Given the description of an element on the screen output the (x, y) to click on. 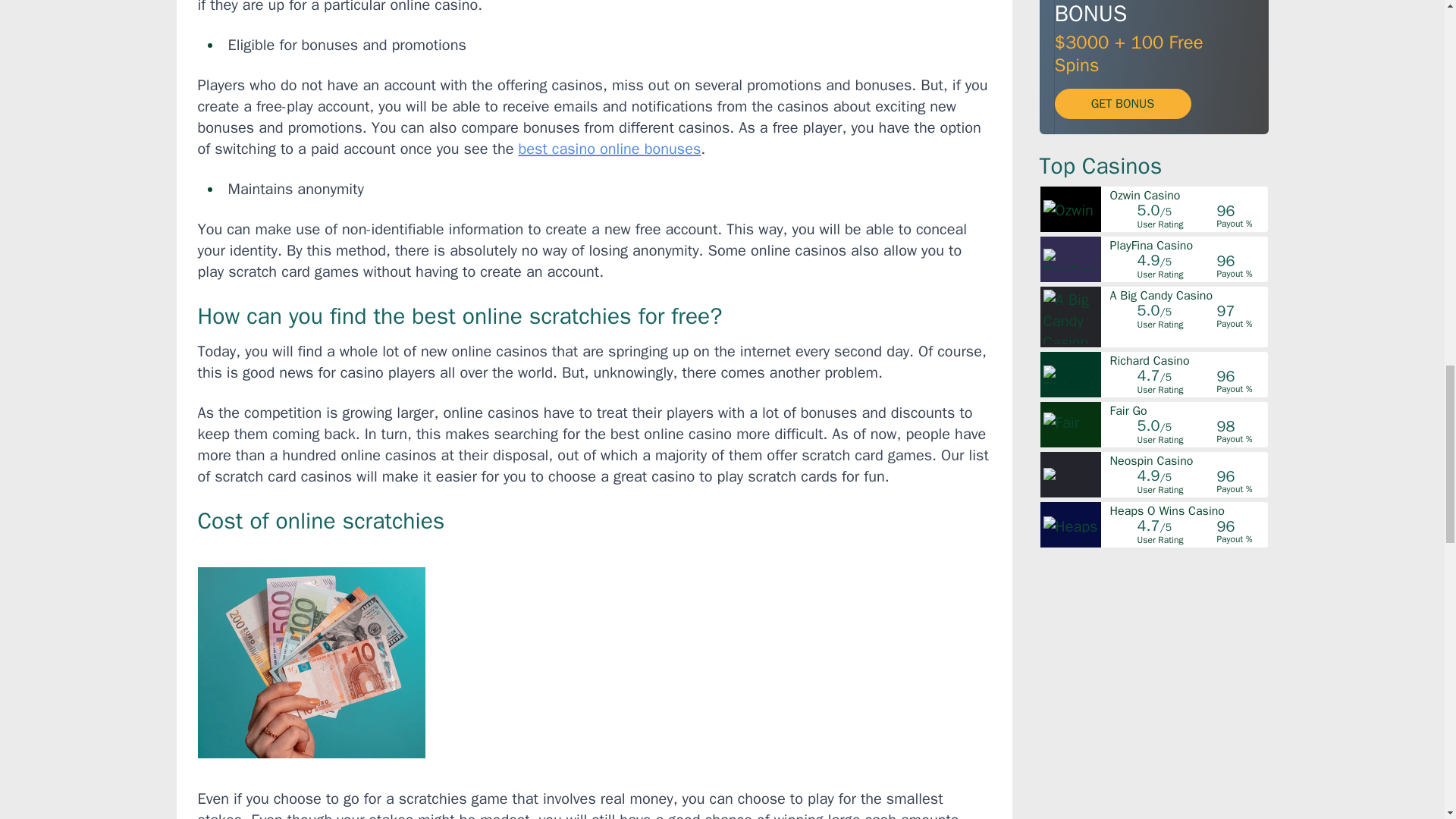
Ozwin Casino (1187, 195)
Heaps O Wins Casino (1187, 510)
PlayFina Casino (1187, 245)
Neospin Casino (1187, 460)
A Big Candy Casino (1187, 295)
Fair Go (1187, 410)
Richard Casino (1187, 360)
best casino online bonuses (609, 148)
Scratch Cards (310, 662)
